Given the description of an element on the screen output the (x, y) to click on. 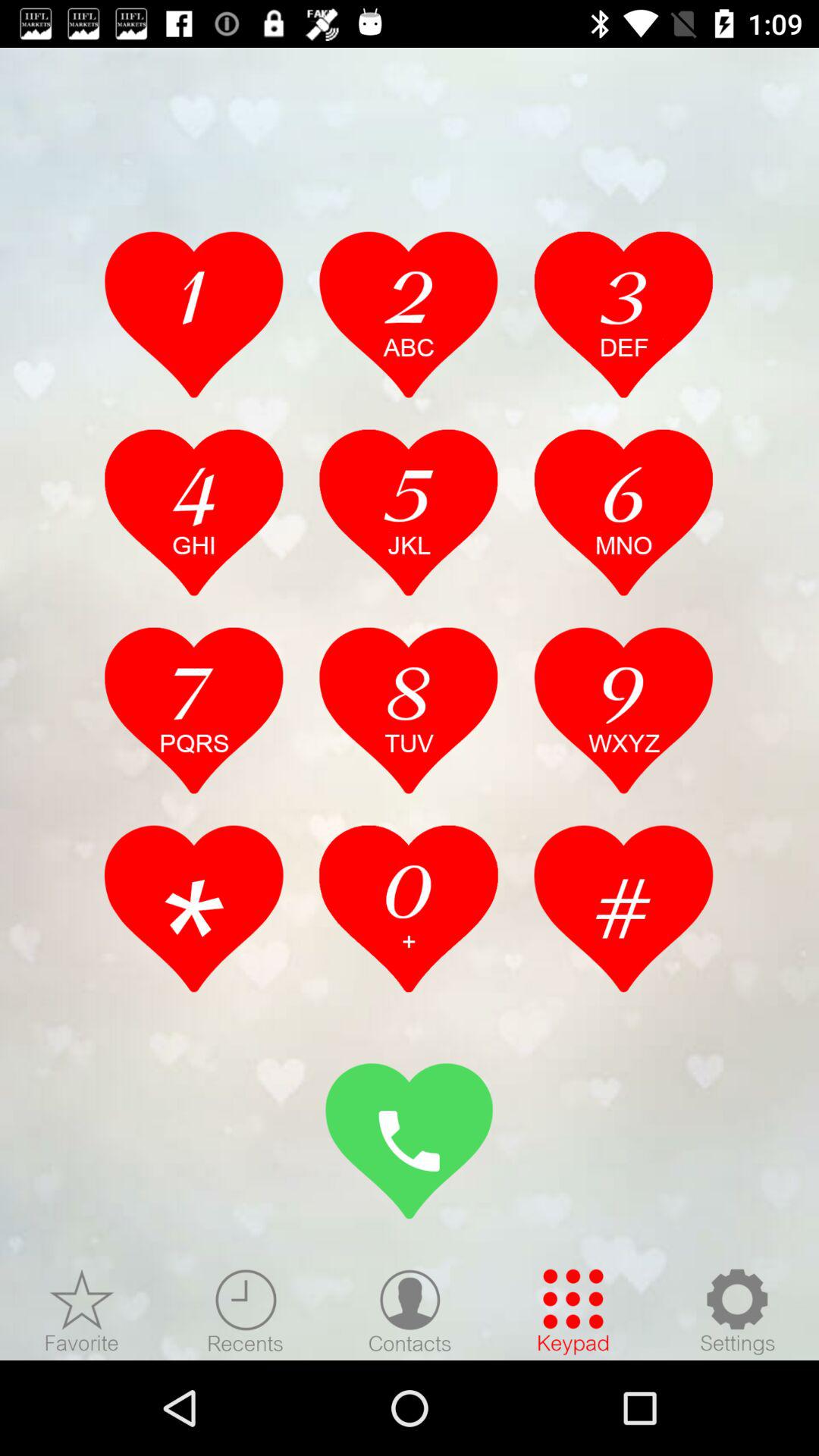
zero (408, 908)
